Given the description of an element on the screen output the (x, y) to click on. 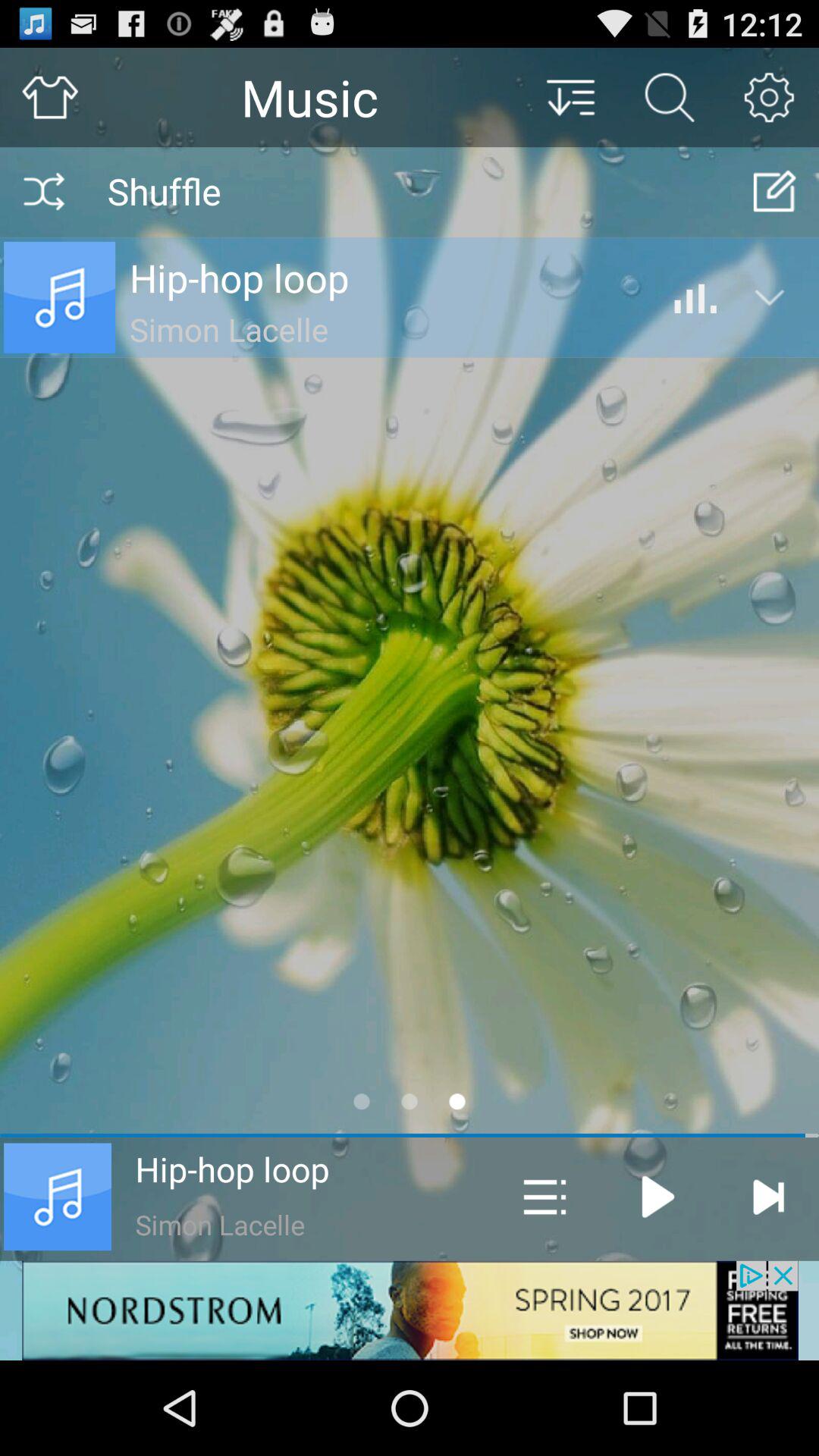
tap the item next to the hip-hop loop item (544, 1197)
